Given the description of an element on the screen output the (x, y) to click on. 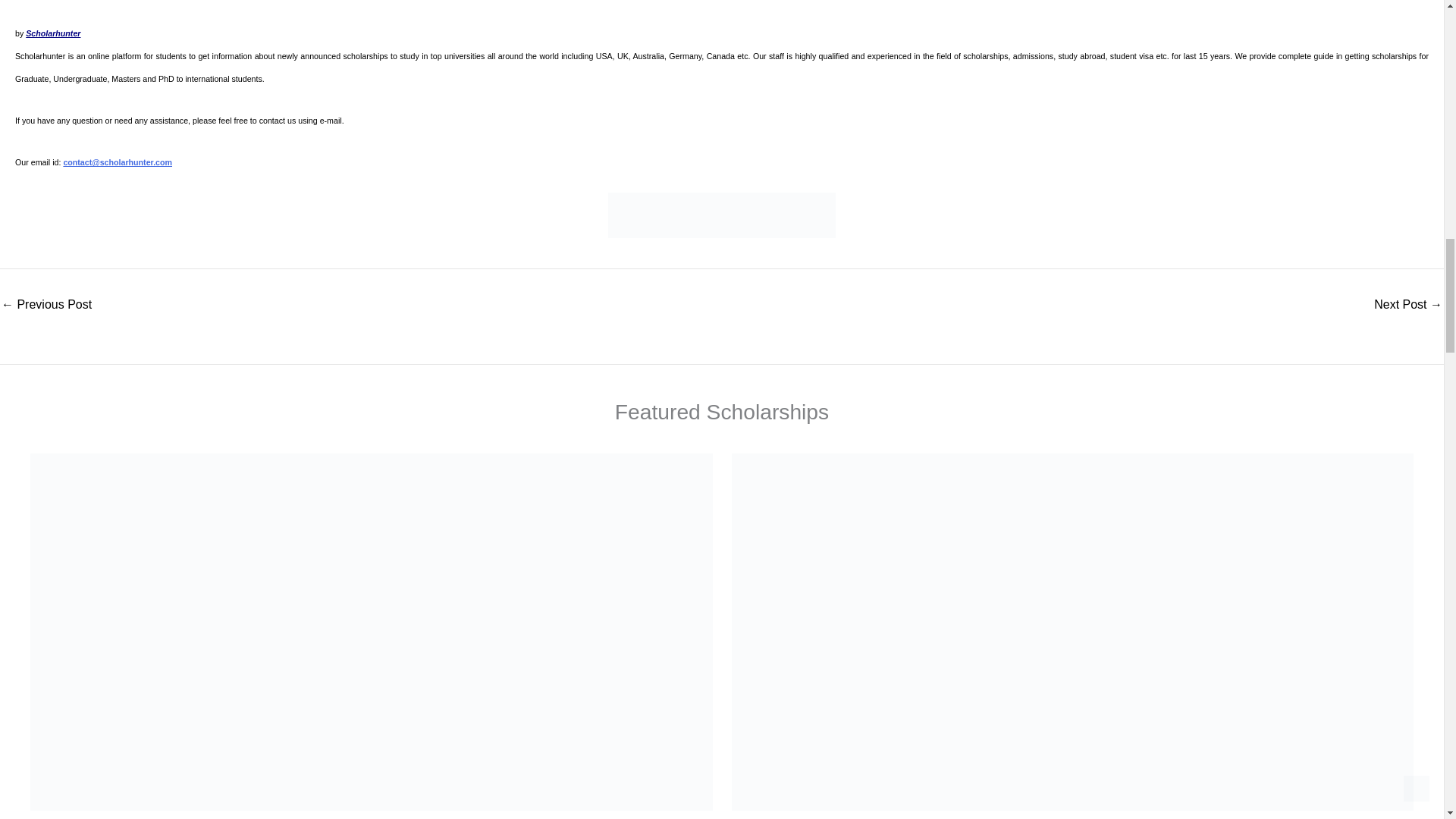
Follow us on google for latest scholarships (721, 215)
